Given the description of an element on the screen output the (x, y) to click on. 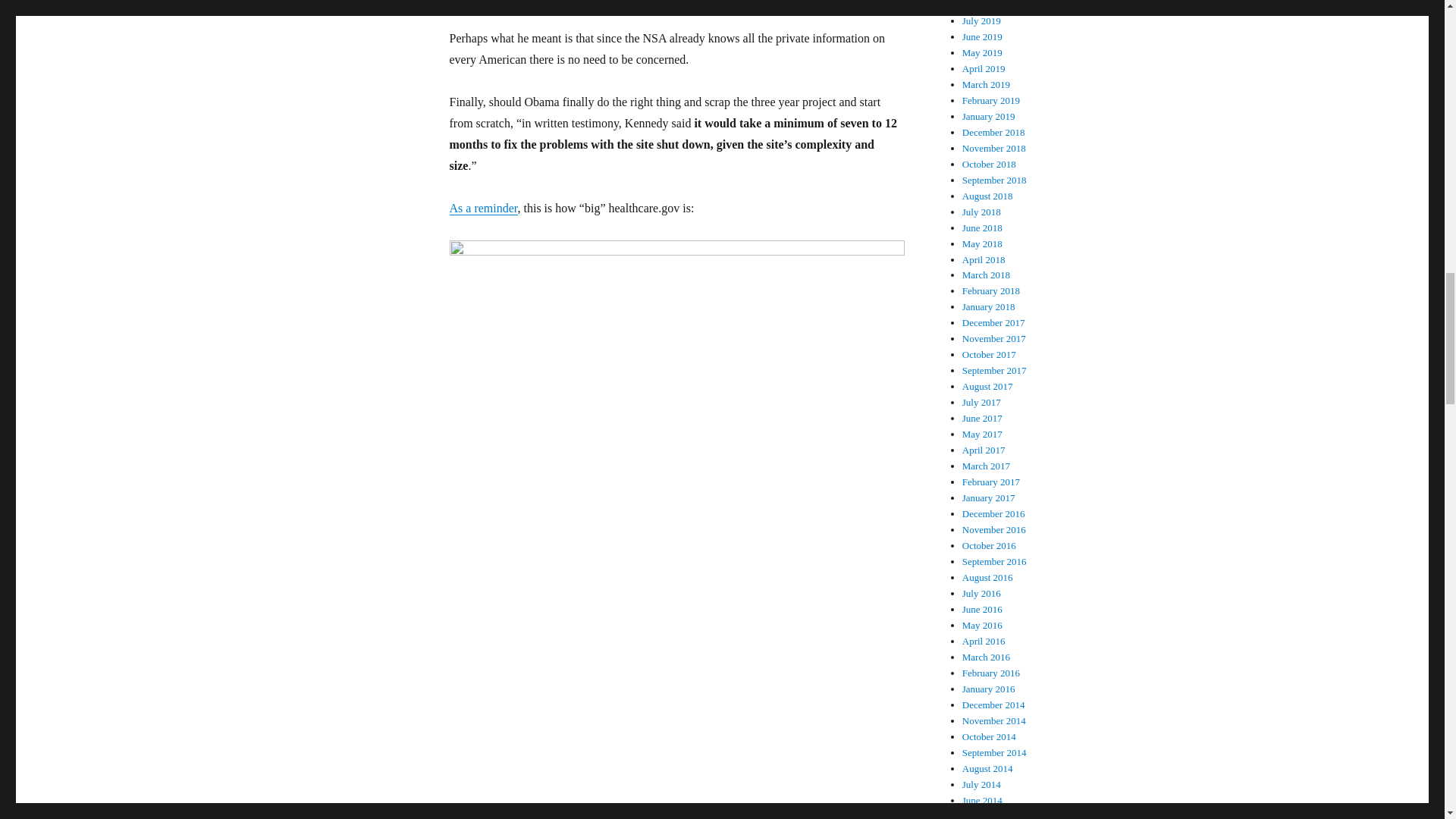
As a reminder (482, 207)
